Given the description of an element on the screen output the (x, y) to click on. 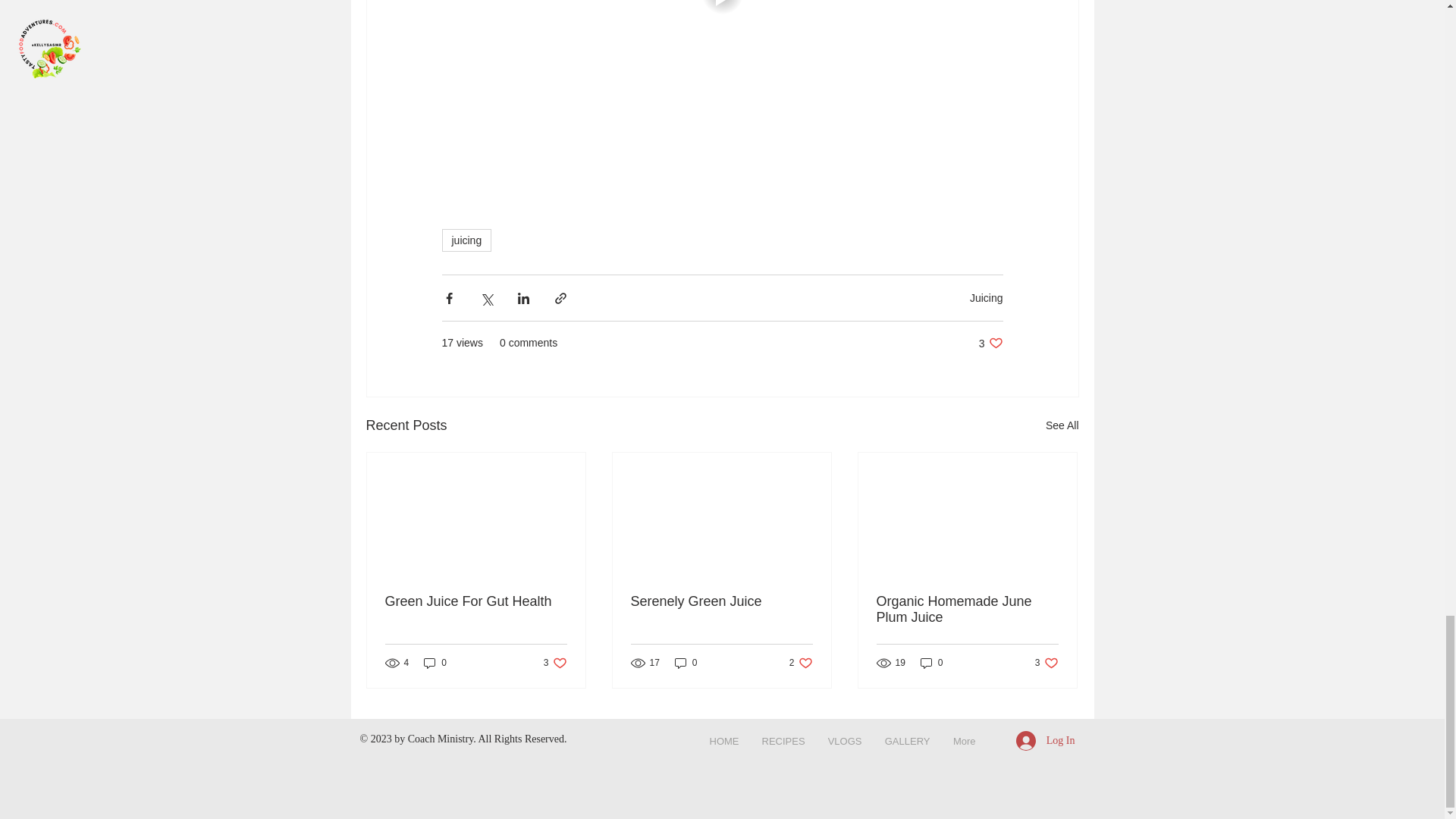
juicing (466, 240)
Juicing (990, 342)
